Given the description of an element on the screen output the (x, y) to click on. 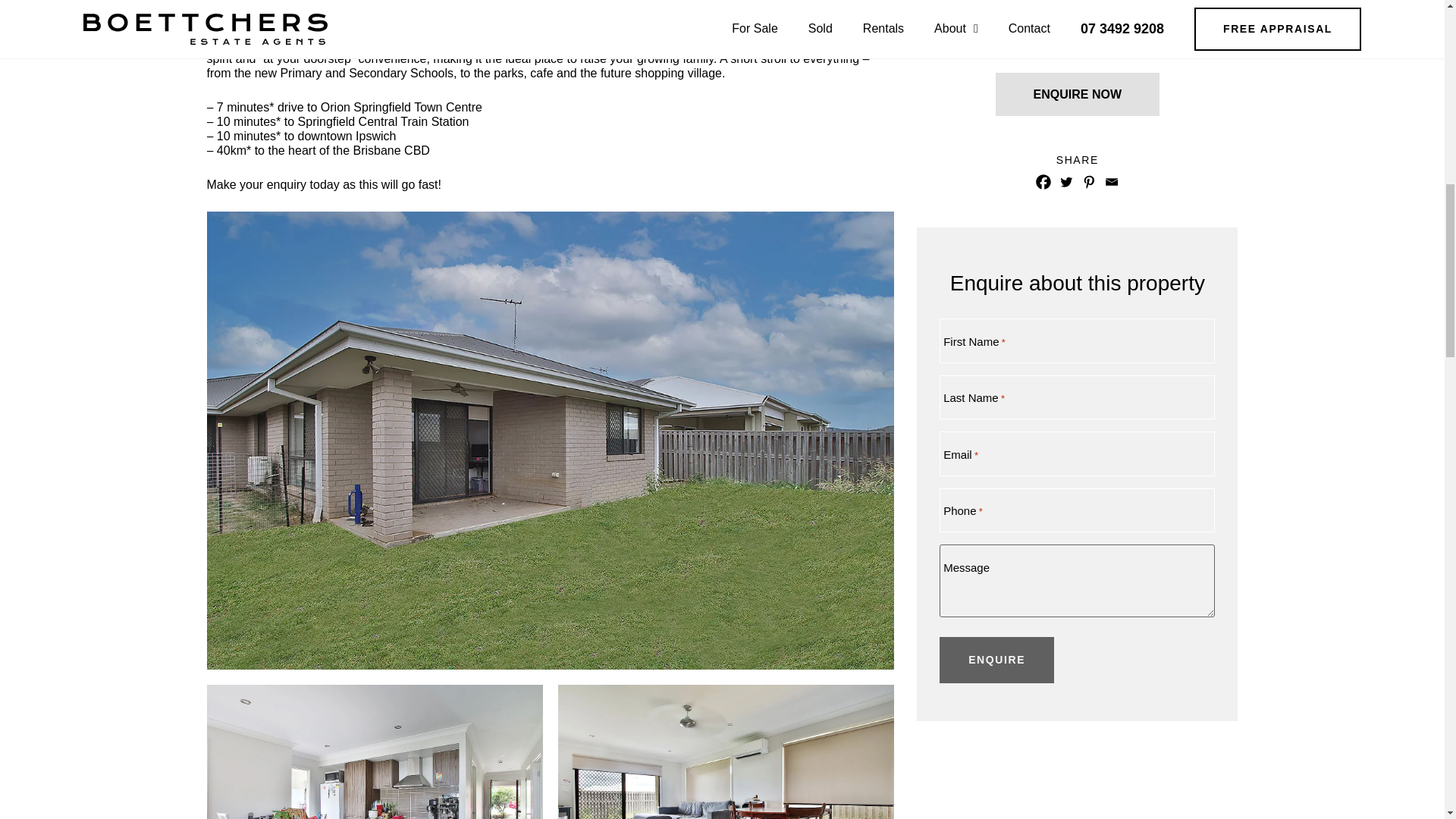
Twitter (1066, 181)
Facebook (1042, 181)
Email (1111, 181)
Pinterest (1088, 181)
ENQUIRE NOW (1076, 94)
Enquire (996, 660)
